Given the description of an element on the screen output the (x, y) to click on. 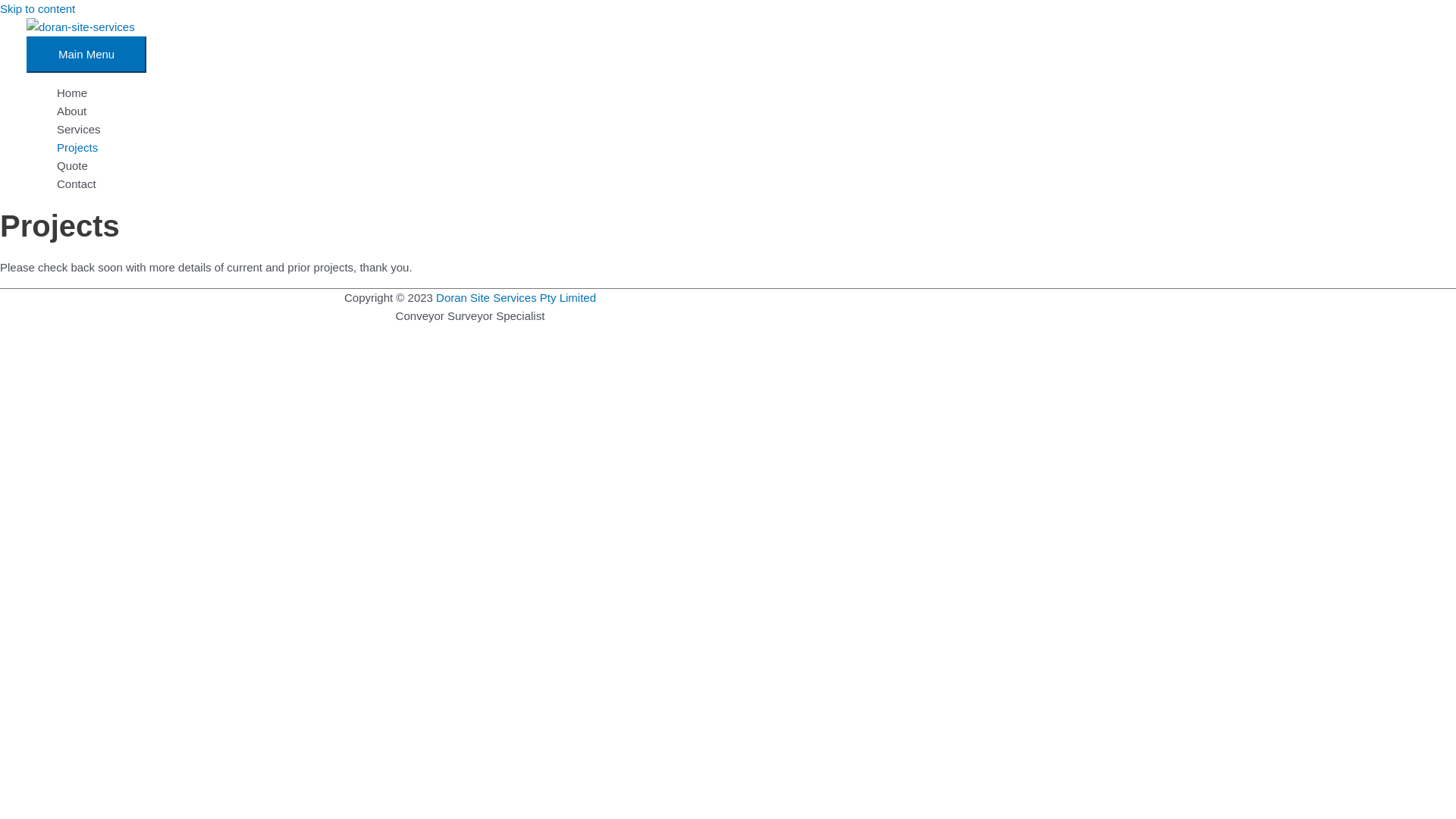
About Element type: text (742, 111)
Contact Element type: text (742, 184)
Home Element type: text (742, 93)
Main Menu Element type: text (86, 54)
Services Element type: text (742, 129)
Projects Element type: text (742, 147)
Quote Element type: text (742, 165)
Skip to content Element type: text (37, 8)
Doran Site Services Pty Limited Element type: text (516, 297)
